Given the description of an element on the screen output the (x, y) to click on. 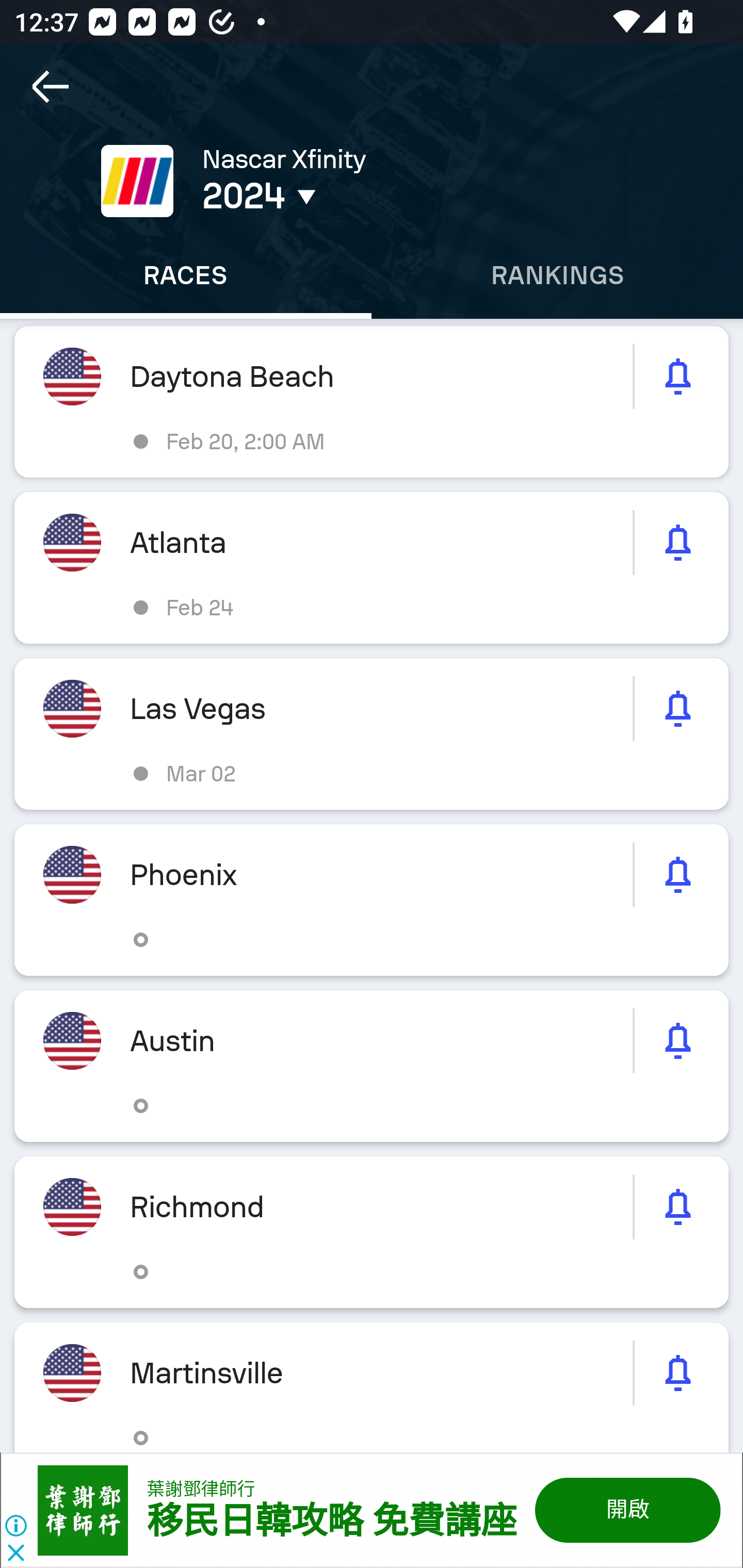
Navigate up (50, 86)
2024 (350, 195)
Rankings RANKINGS (557, 275)
Daytona Beach picture Feb 20, 2:00 AM (371, 402)
Atlanta picture Feb 24 (371, 568)
Las Vegas picture Mar 02 (371, 733)
Phoenix picture (371, 899)
Austin picture (371, 1065)
Richmond picture (371, 1232)
Martinsville picture (371, 1386)
葉謝鄧律師行 (200, 1488)
開啟 (626, 1509)
移民日韓攻略 免費講座 (330, 1521)
